Given the description of an element on the screen output the (x, y) to click on. 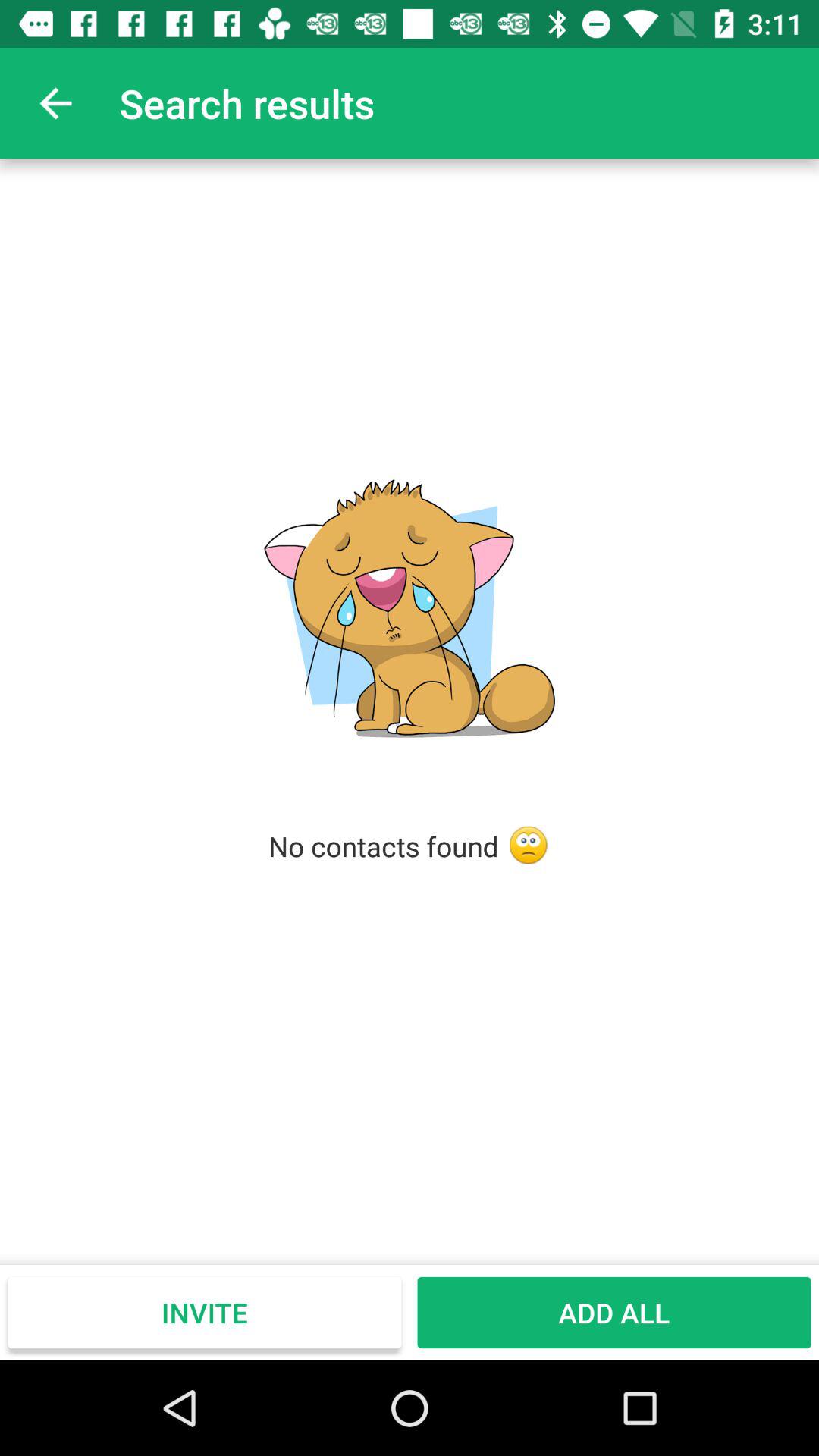
turn off the icon to the right of the invite (614, 1312)
